Given the description of an element on the screen output the (x, y) to click on. 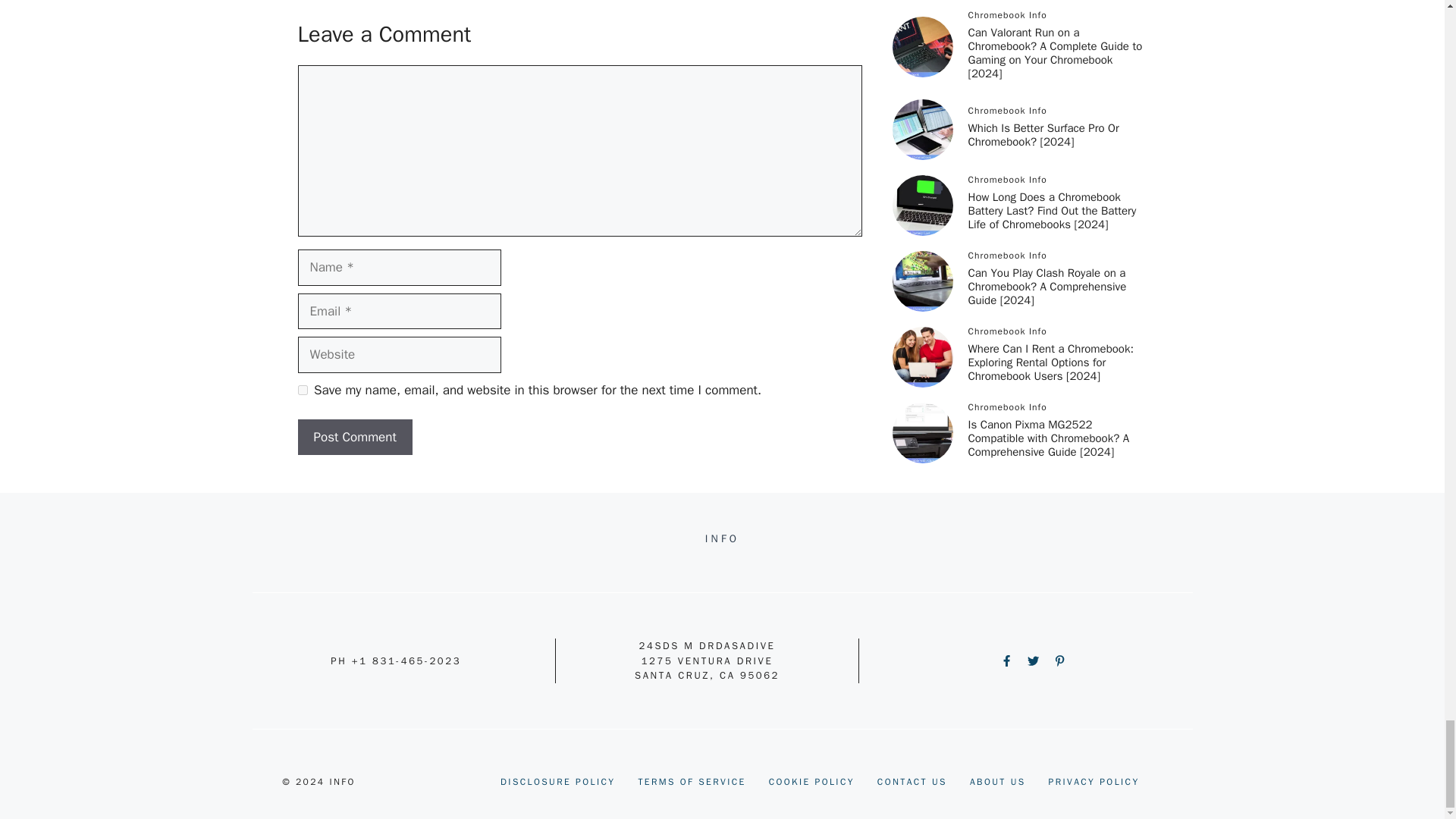
Post Comment (354, 437)
yes (302, 389)
